Given the description of an element on the screen output the (x, y) to click on. 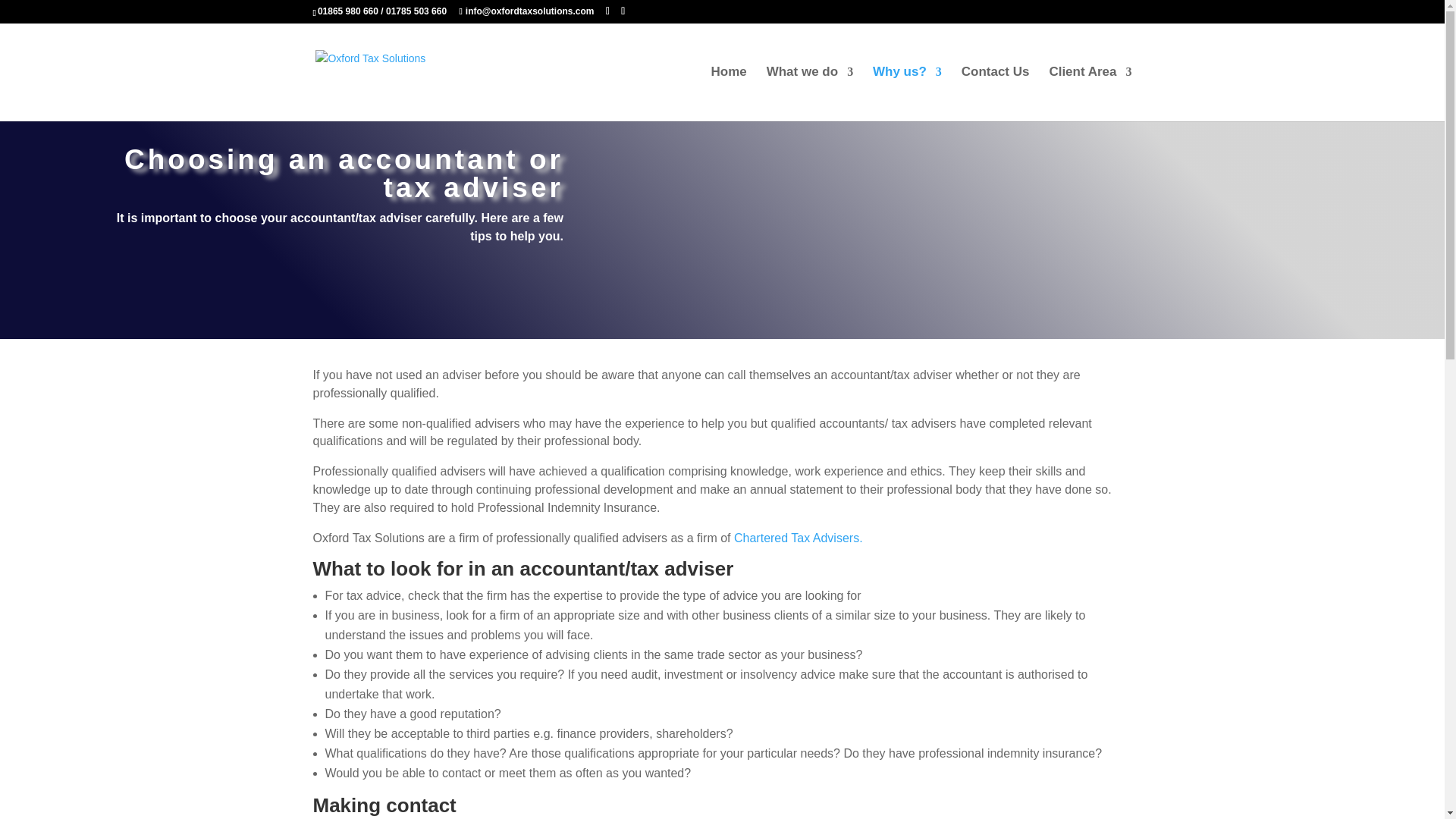
Home (728, 93)
Contact Us (994, 93)
01785 503 660 (415, 10)
Client Area (1089, 93)
Why us? (907, 93)
01865 980 660 (347, 10)
What we do (810, 93)
